Given the description of an element on the screen output the (x, y) to click on. 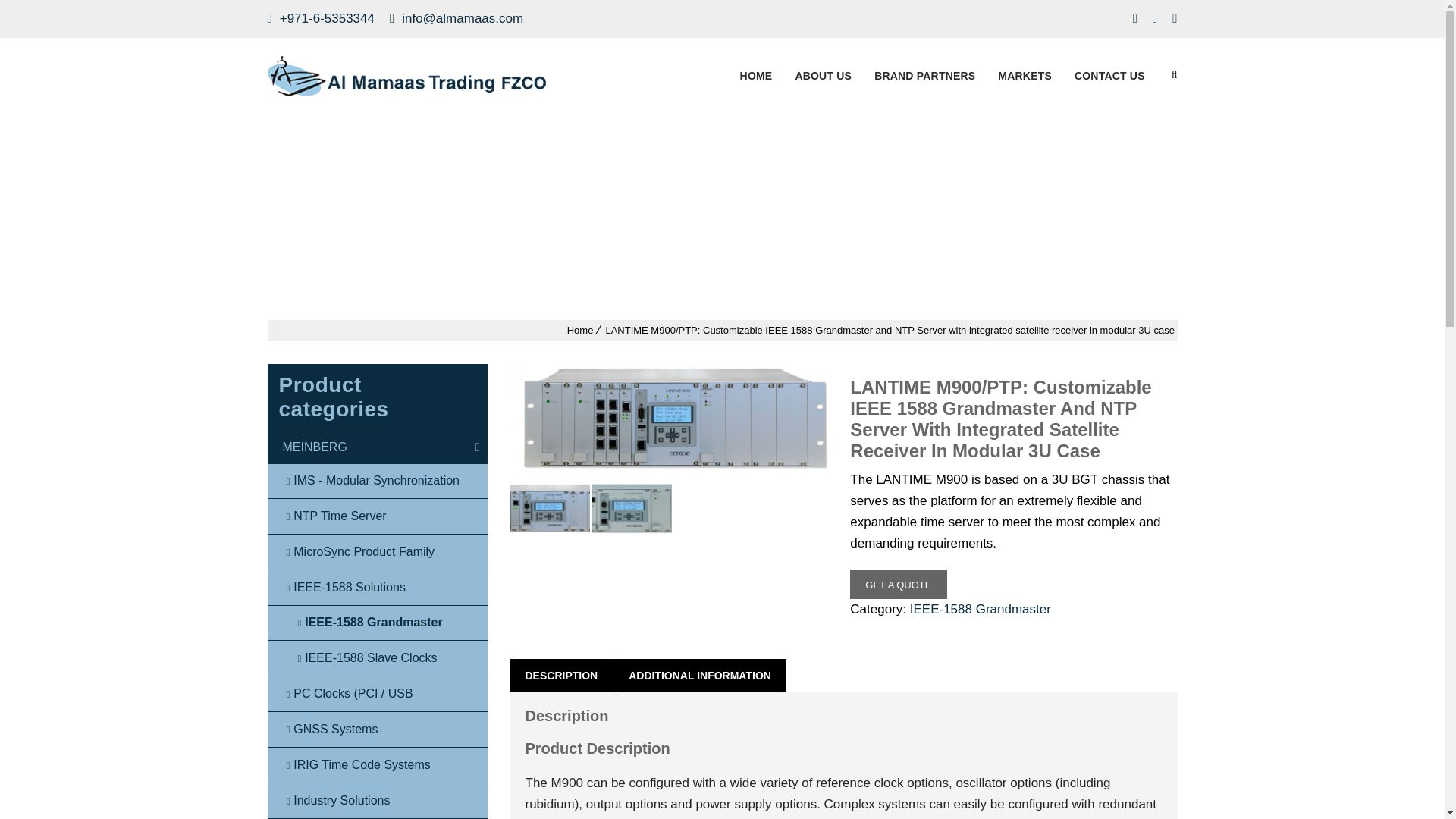
MEINBERG (376, 447)
Get a Quote (898, 583)
Home (580, 329)
IMS - Modular Synchronization (376, 481)
ABOUT US (823, 75)
IEEE-1588 Grandmaster (980, 608)
DESCRIPTION (560, 675)
Welcome to Al Mamaas Trading (406, 76)
CONTACT US (1109, 75)
Lantime Mgg-Ptp-2 (672, 419)
